Given the description of an element on the screen output the (x, y) to click on. 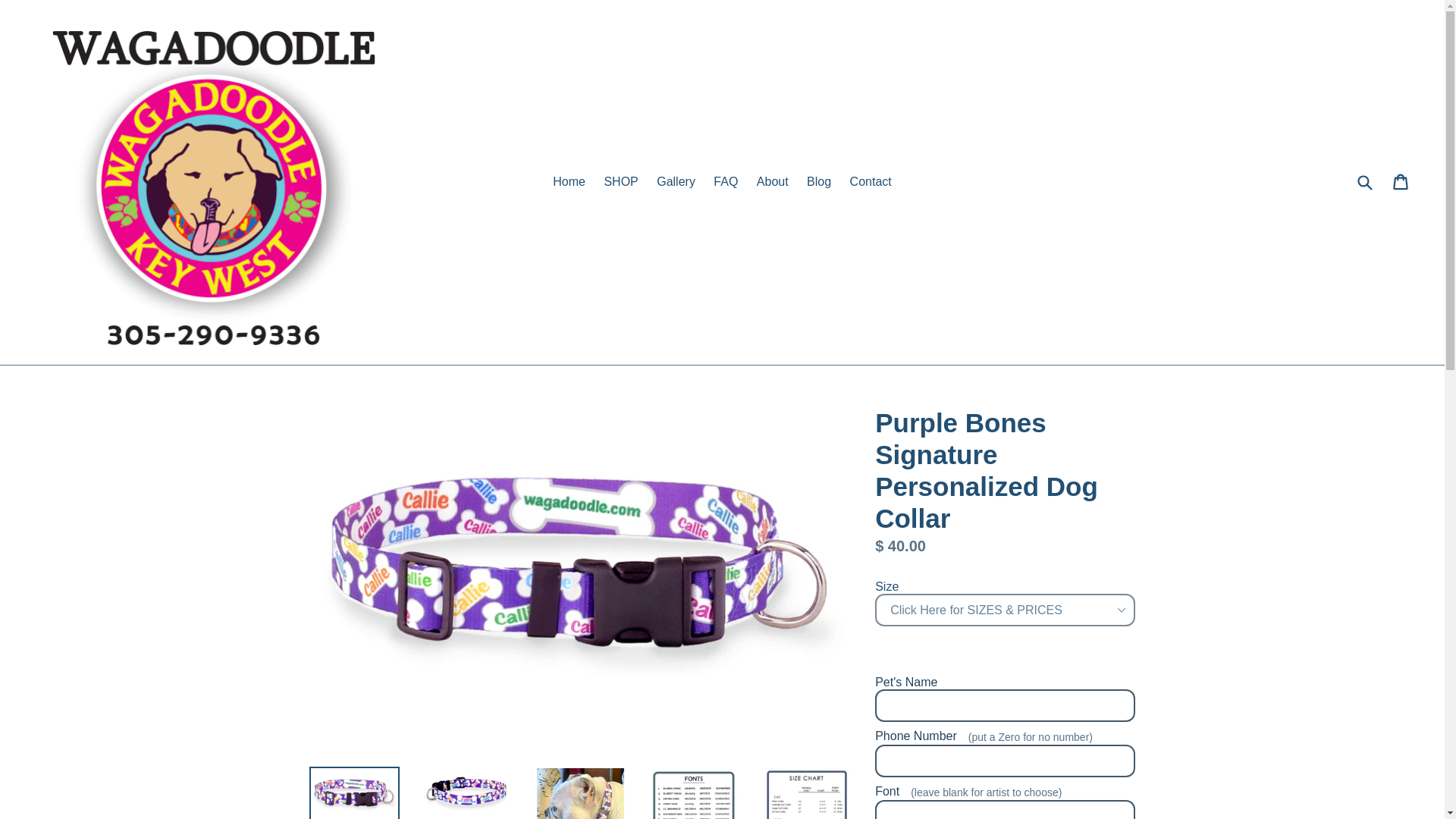
Home (568, 181)
Blog (818, 181)
SHOP (620, 181)
About (772, 181)
Gallery (676, 181)
Contact (871, 181)
FAQ (725, 181)
